Given the description of an element on the screen output the (x, y) to click on. 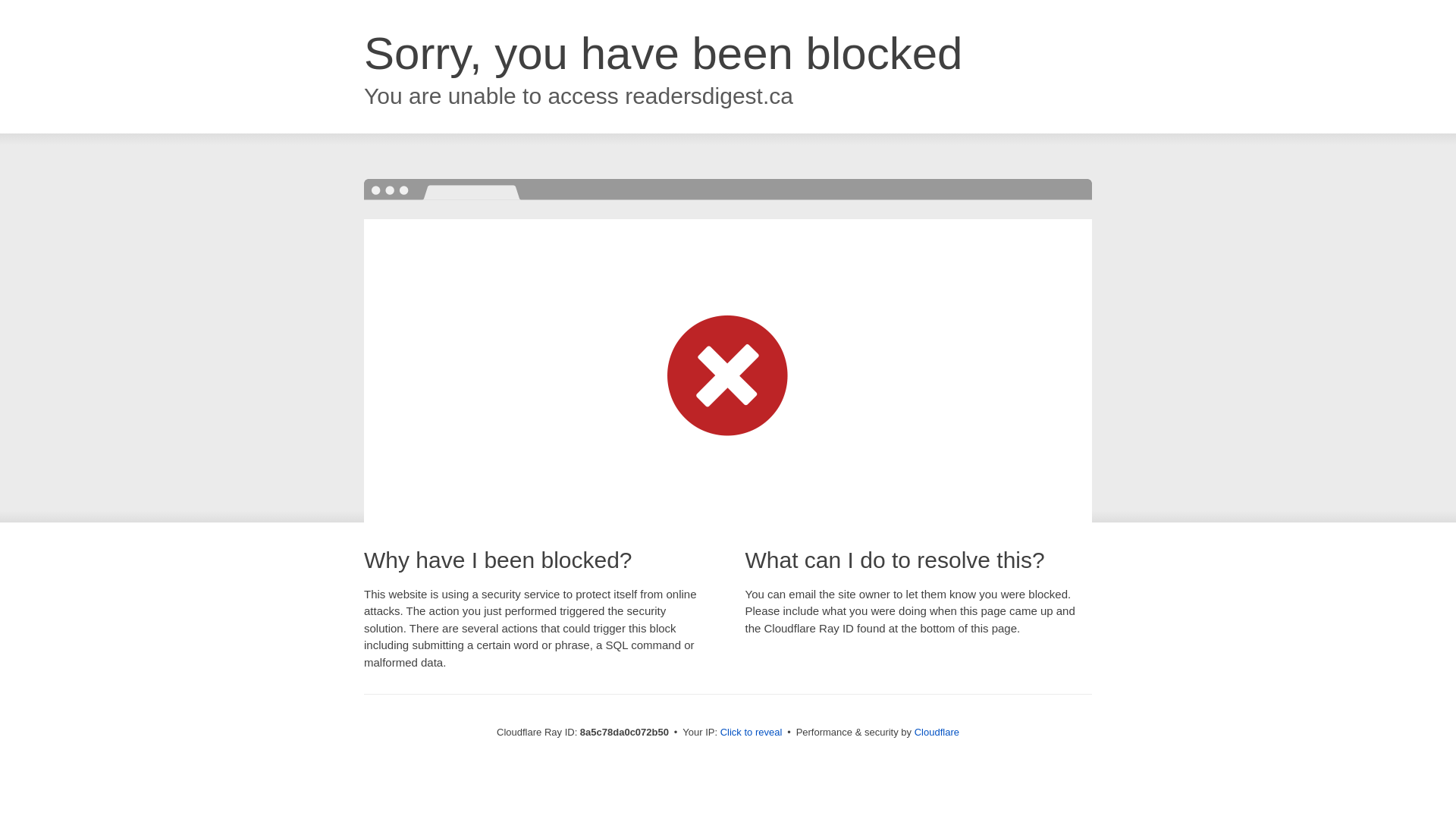
Cloudflare (936, 731)
Click to reveal (751, 732)
